Given the description of an element on the screen output the (x, y) to click on. 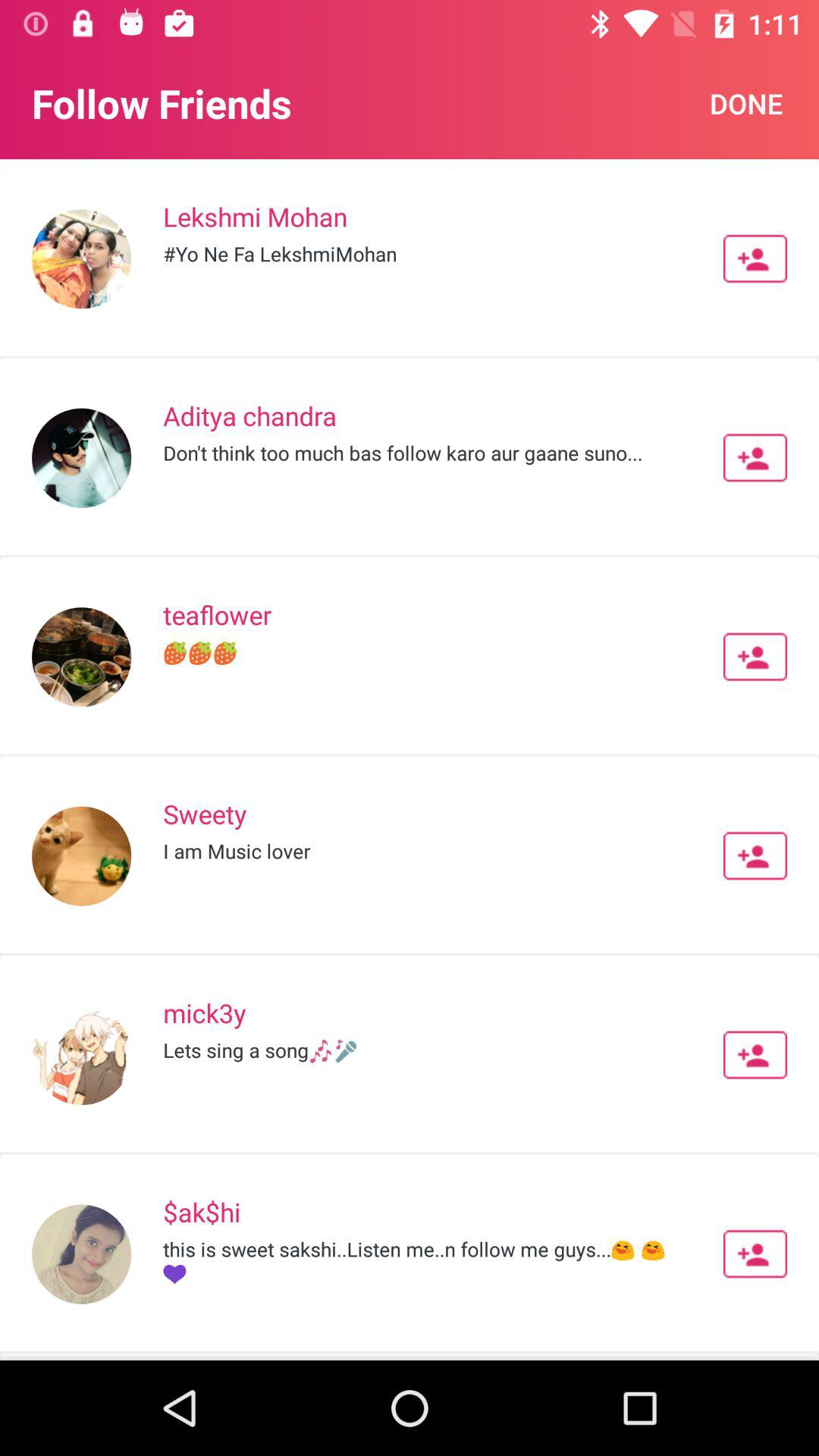
add friend (755, 457)
